Given the description of an element on the screen output the (x, y) to click on. 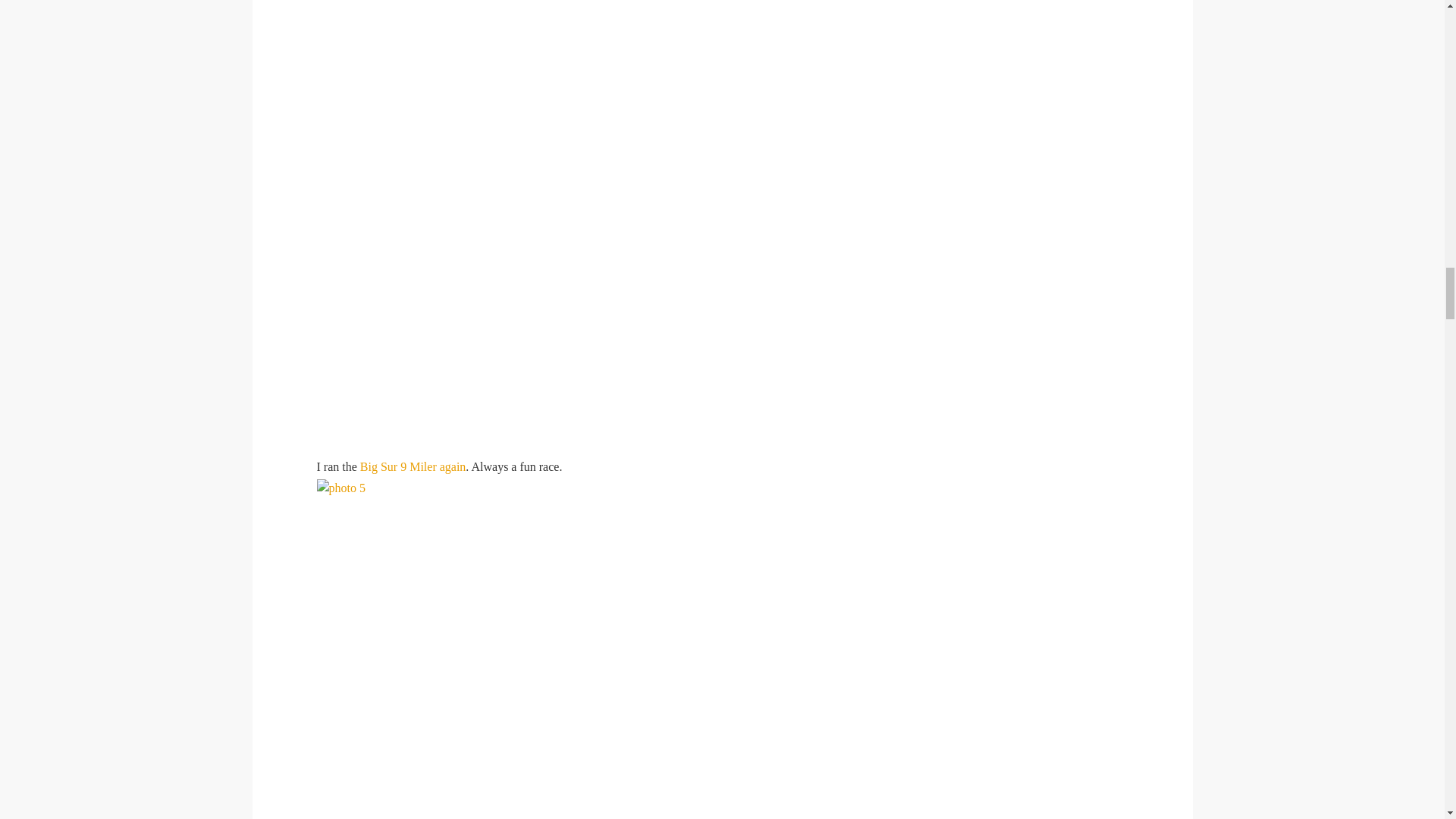
Big Sur 9 Miler again (412, 466)
